Given the description of an element on the screen output the (x, y) to click on. 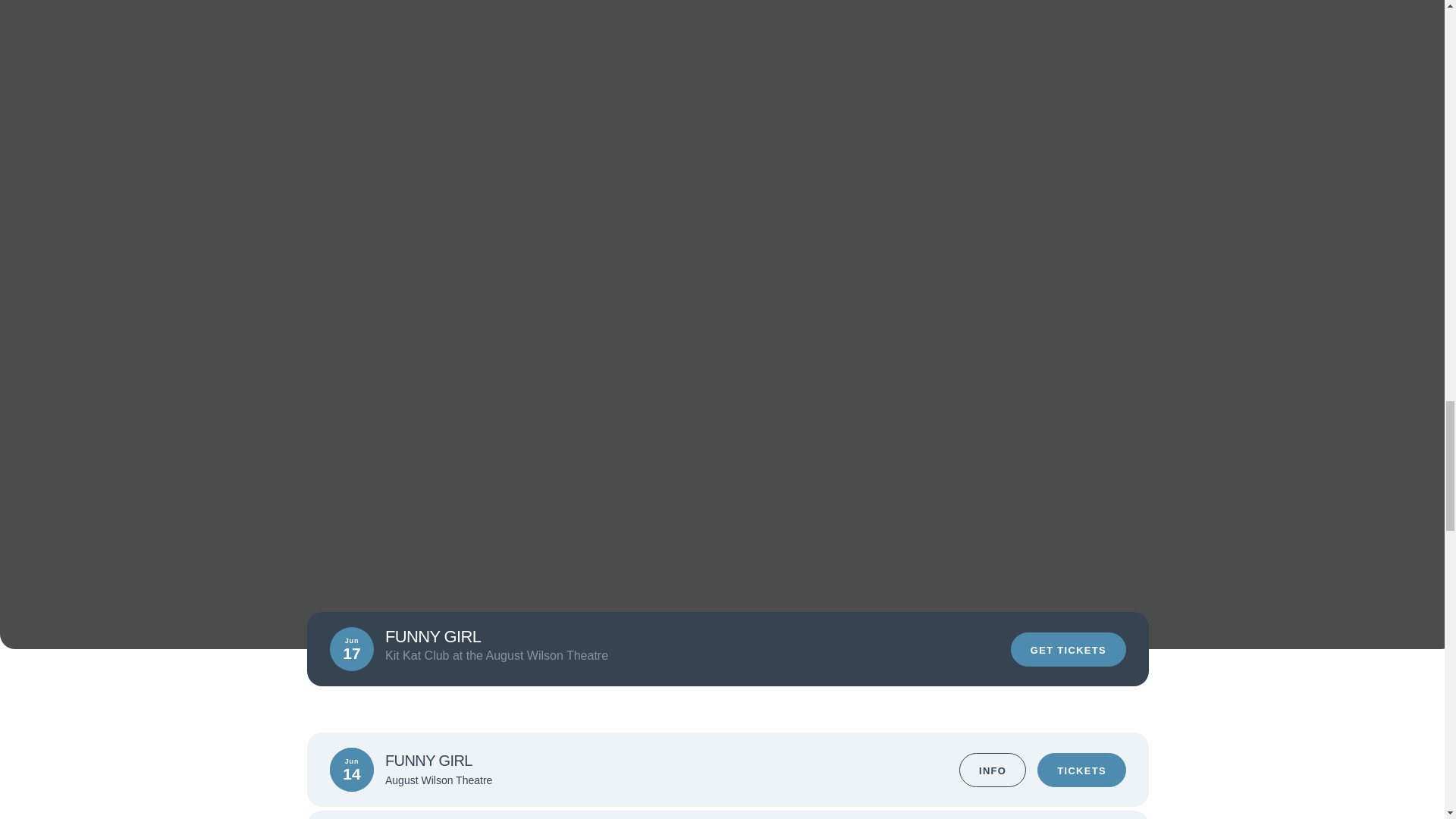
INFO (992, 769)
TICKETS (1080, 769)
GET TICKETS (1067, 649)
Funny Girl at August Wilson Theatre tickets (727, 51)
